Given the description of an element on the screen output the (x, y) to click on. 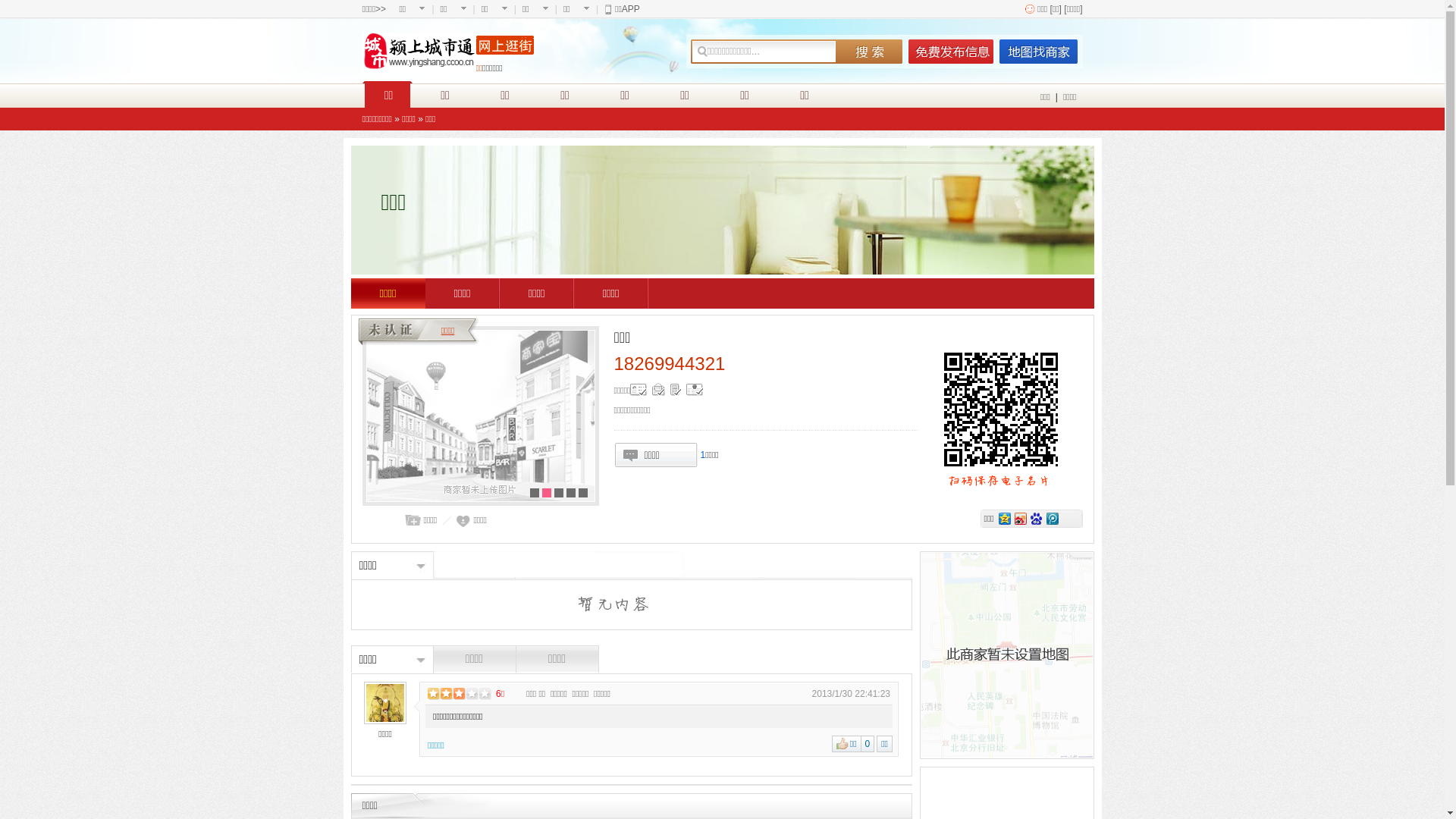
1 Element type: text (703, 454)
